Given the description of an element on the screen output the (x, y) to click on. 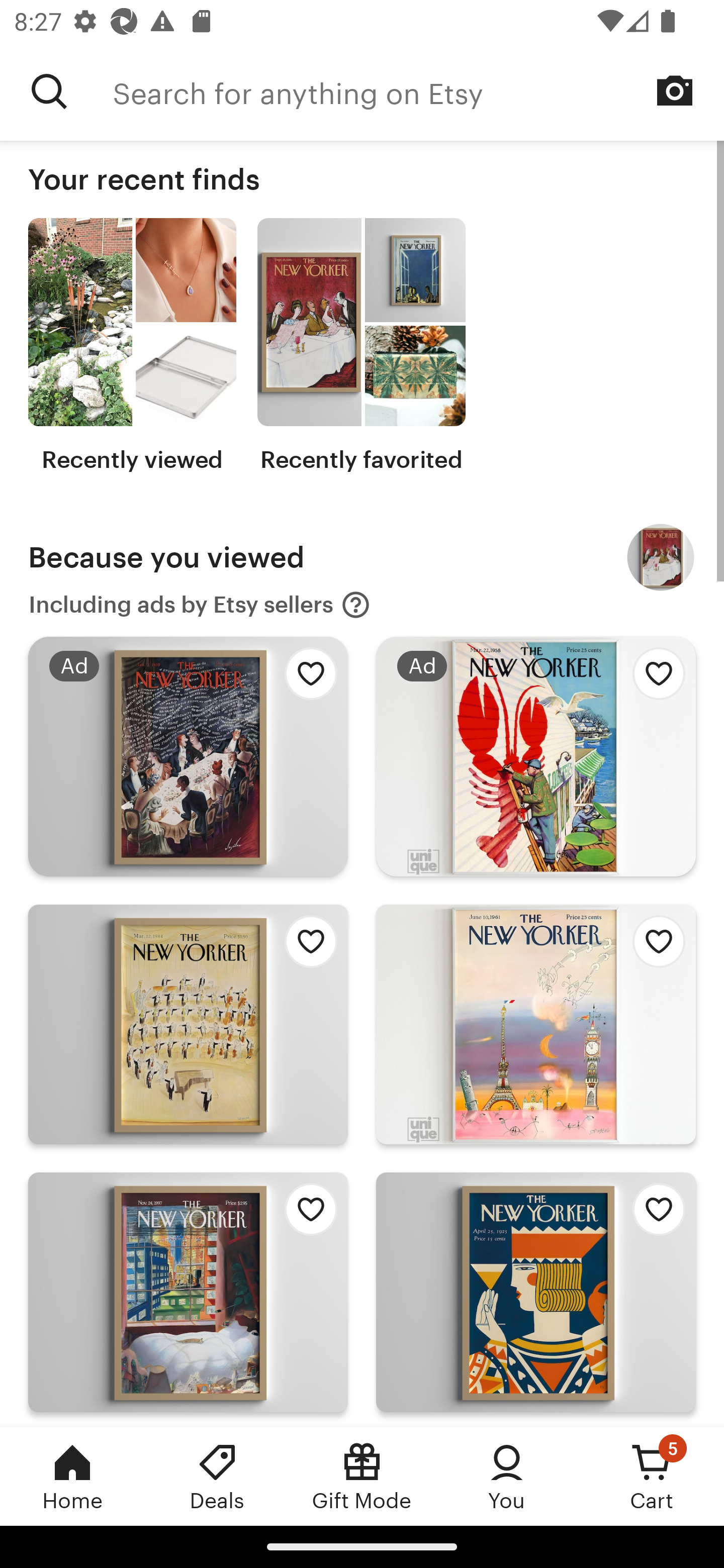
Search for anything on Etsy (49, 91)
Search by image (674, 90)
Search for anything on Etsy (418, 91)
Recently viewed (132, 345)
Recently favorited (361, 345)
Including ads by Etsy sellers (199, 604)
Deals (216, 1475)
Gift Mode (361, 1475)
You (506, 1475)
Cart, 5 new notifications Cart (651, 1475)
